Given the description of an element on the screen output the (x, y) to click on. 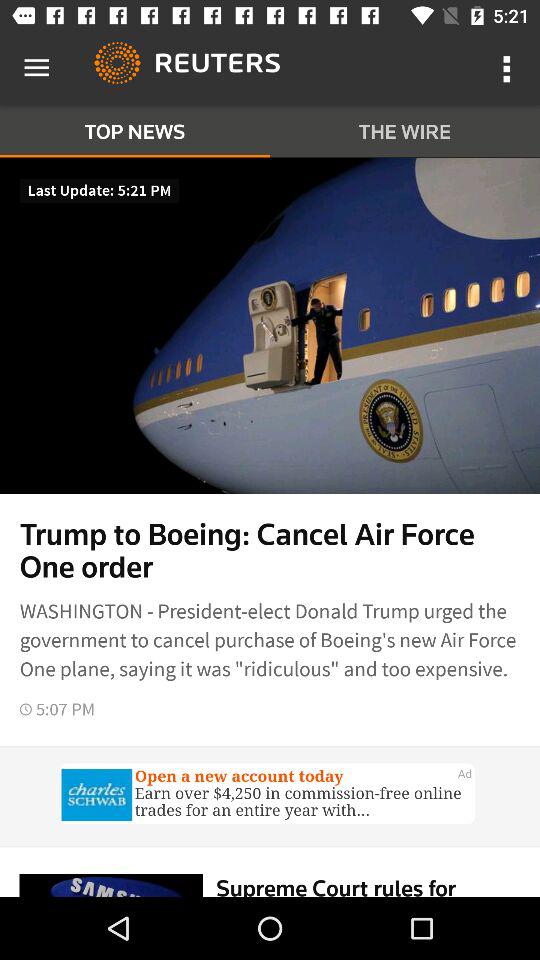
share the article (270, 796)
